Given the description of an element on the screen output the (x, y) to click on. 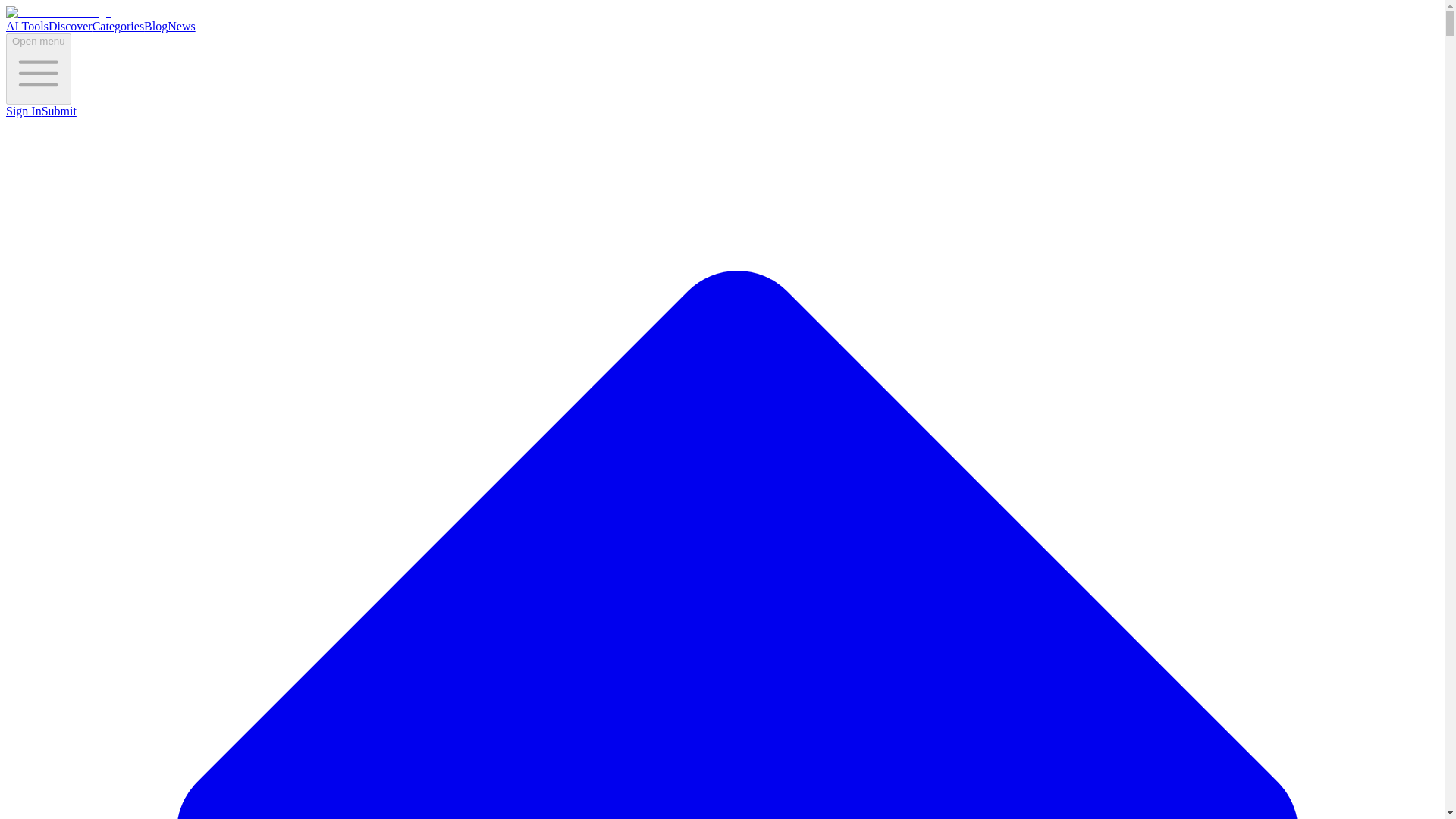
Open menu (38, 68)
AI Tools (26, 25)
Discover (70, 25)
Sign In (23, 110)
News (181, 25)
Categories (118, 25)
Submit (59, 110)
Blog (155, 25)
